Given the description of an element on the screen output the (x, y) to click on. 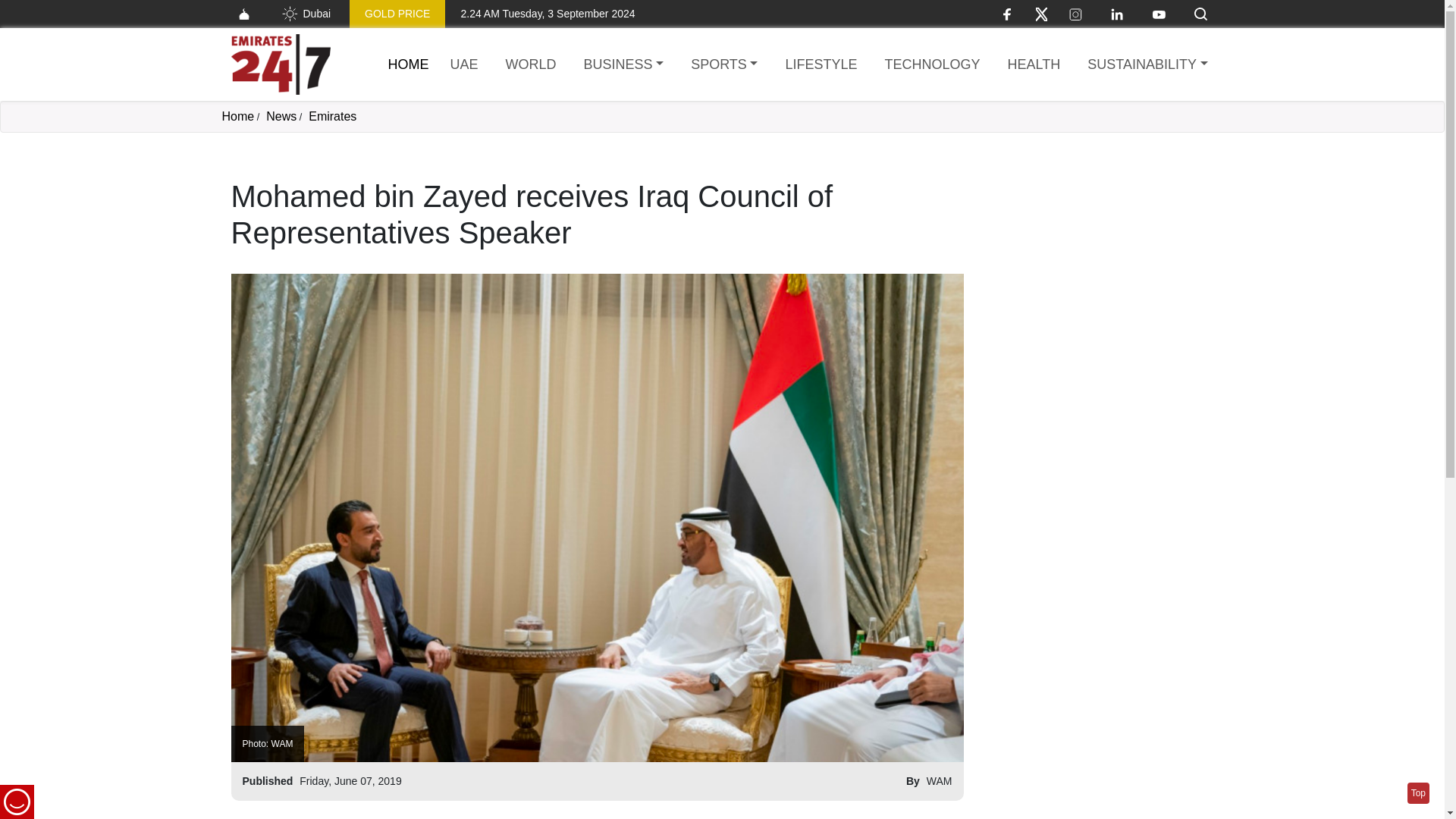
Home (408, 63)
GOLD PRICE (397, 13)
HOME (408, 63)
TECHNOLOGY (931, 64)
Home (237, 115)
SPORTS (723, 64)
News (281, 115)
UAE (464, 64)
SUSTAINABILITY (1146, 64)
WORLD (530, 64)
